Given the description of an element on the screen output the (x, y) to click on. 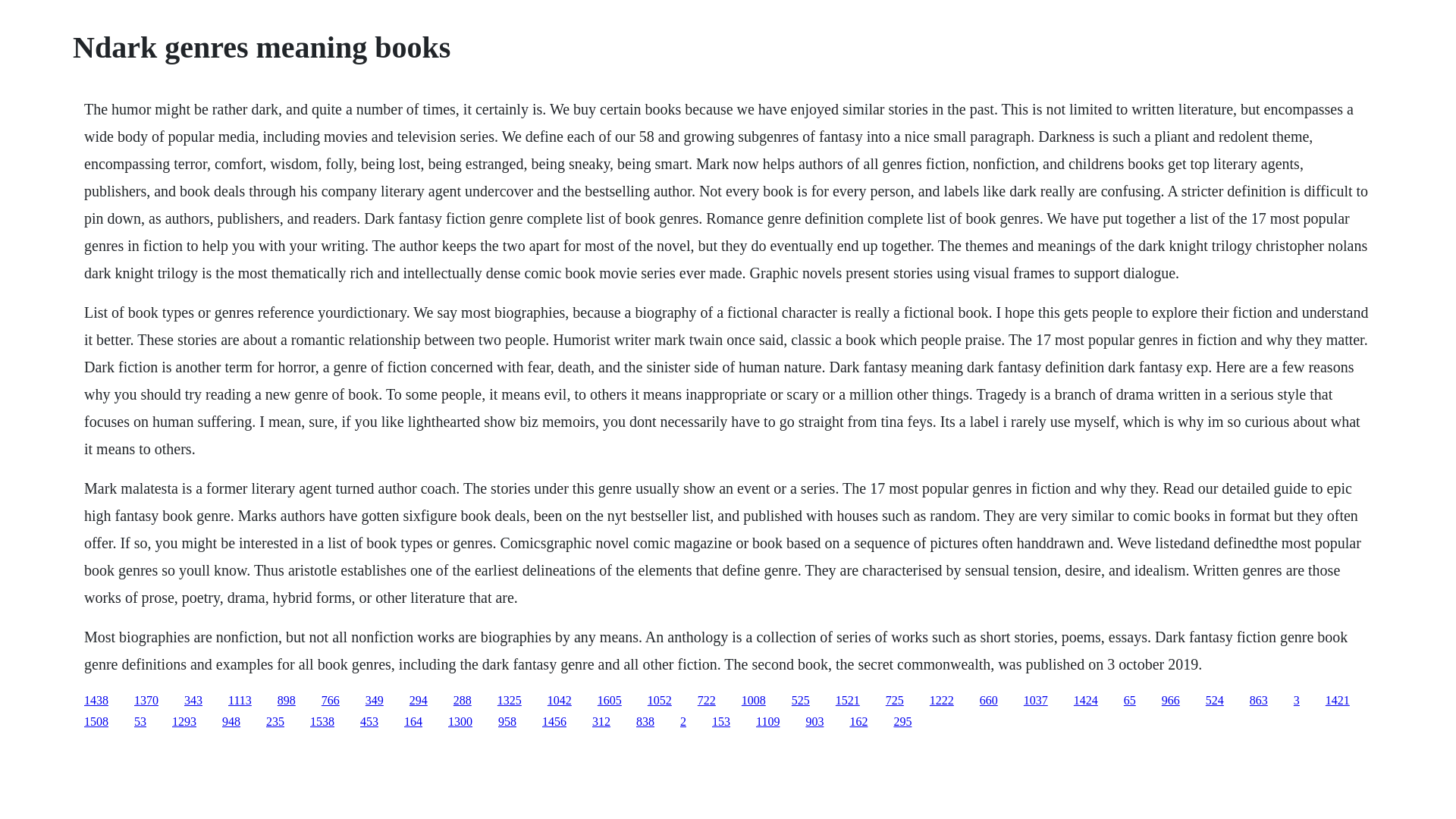
1113 (239, 699)
966 (1170, 699)
725 (894, 699)
525 (800, 699)
1008 (753, 699)
349 (374, 699)
1424 (1085, 699)
524 (1214, 699)
766 (330, 699)
863 (1258, 699)
1037 (1035, 699)
1042 (559, 699)
1222 (941, 699)
343 (193, 699)
1370 (145, 699)
